Given the description of an element on the screen output the (x, y) to click on. 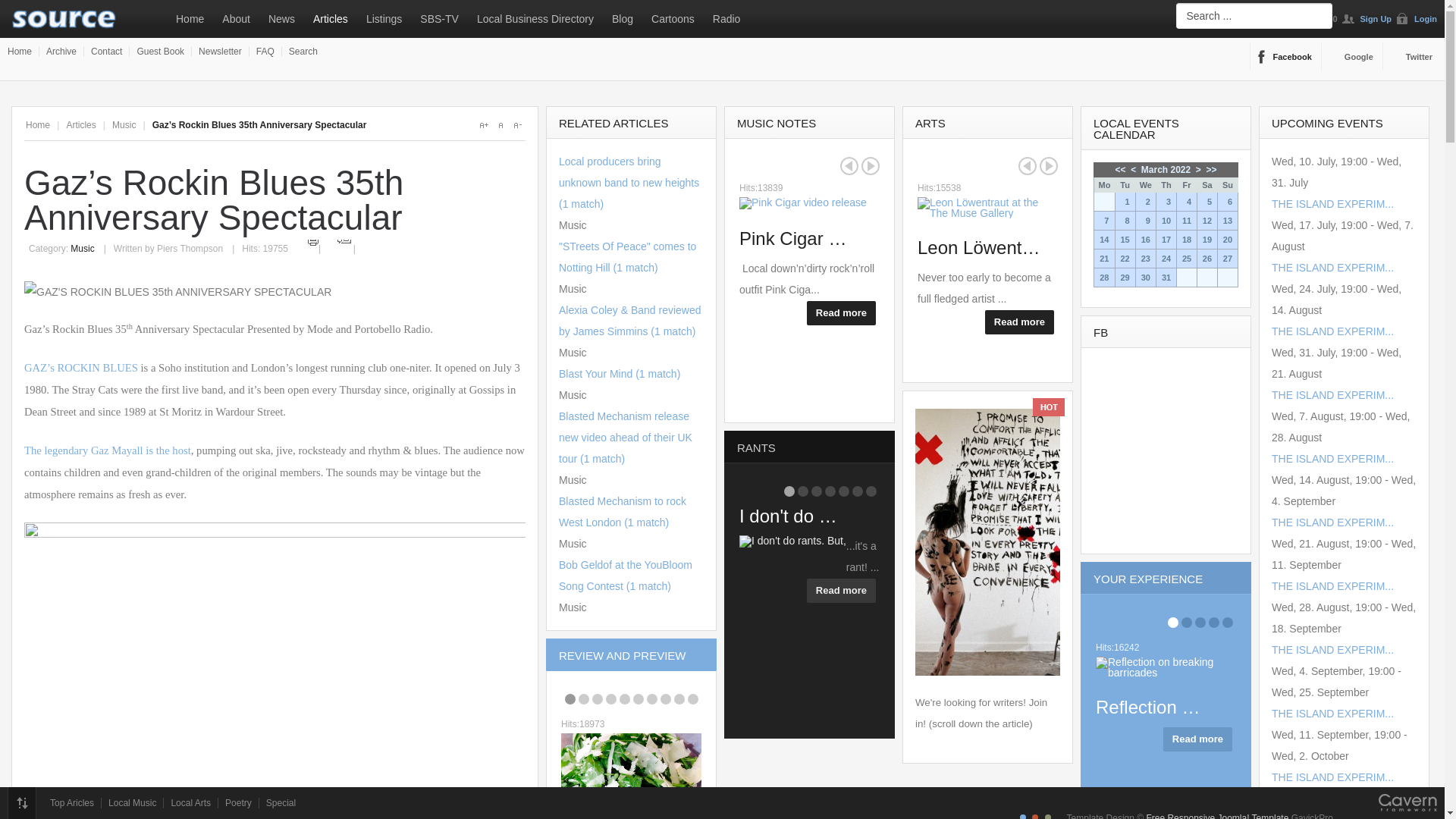
Login (1416, 18)
Articles (330, 18)
Sign Up (1366, 18)
Articles (330, 18)
About (235, 18)
News (281, 18)
Search ... (1254, 15)
Home (189, 18)
Listings (383, 18)
Home (189, 18)
News (281, 18)
About (235, 18)
SBS-TV (438, 18)
Listings (383, 18)
